Given the description of an element on the screen output the (x, y) to click on. 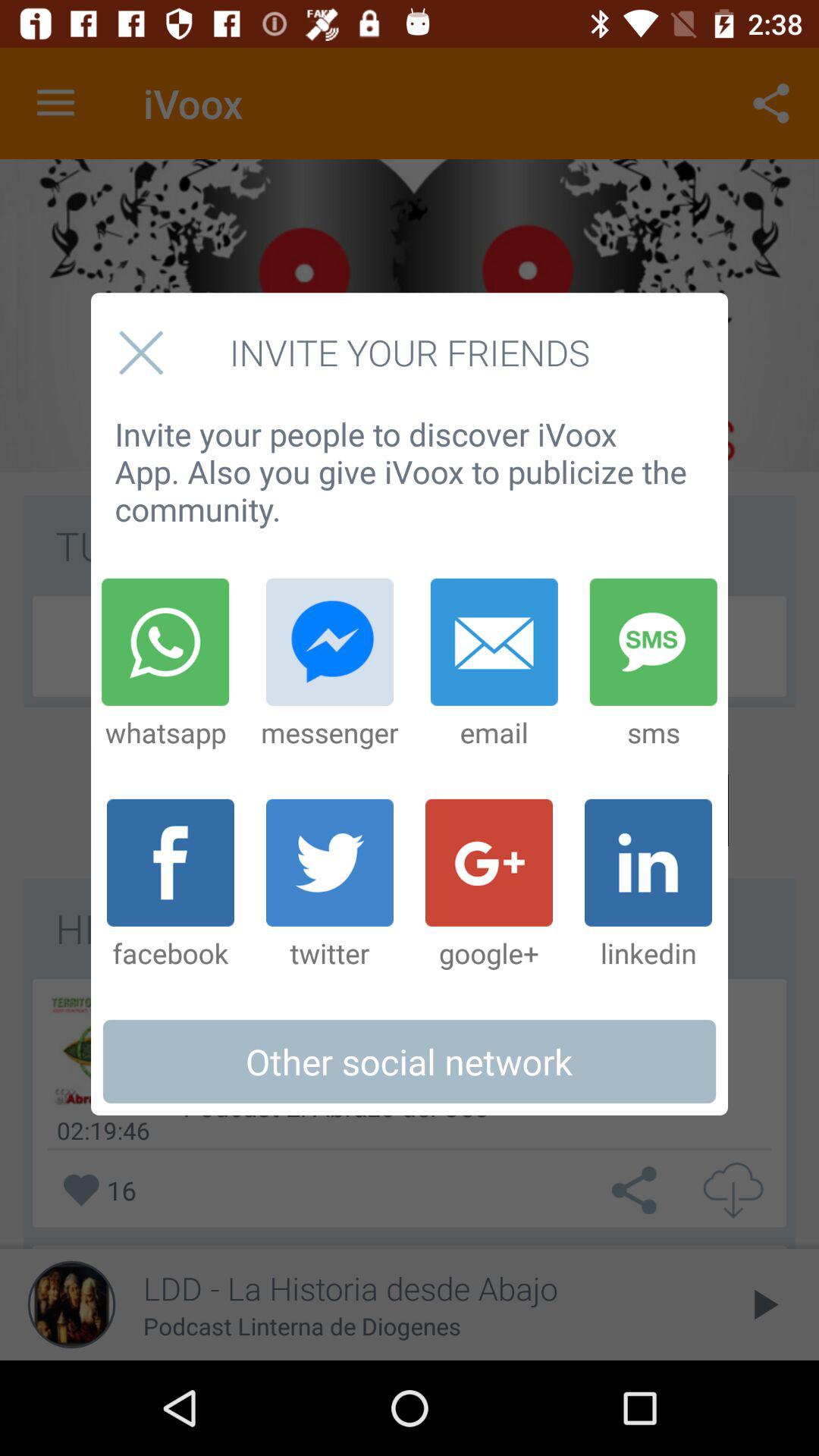
swipe to the twitter (329, 885)
